Given the description of an element on the screen output the (x, y) to click on. 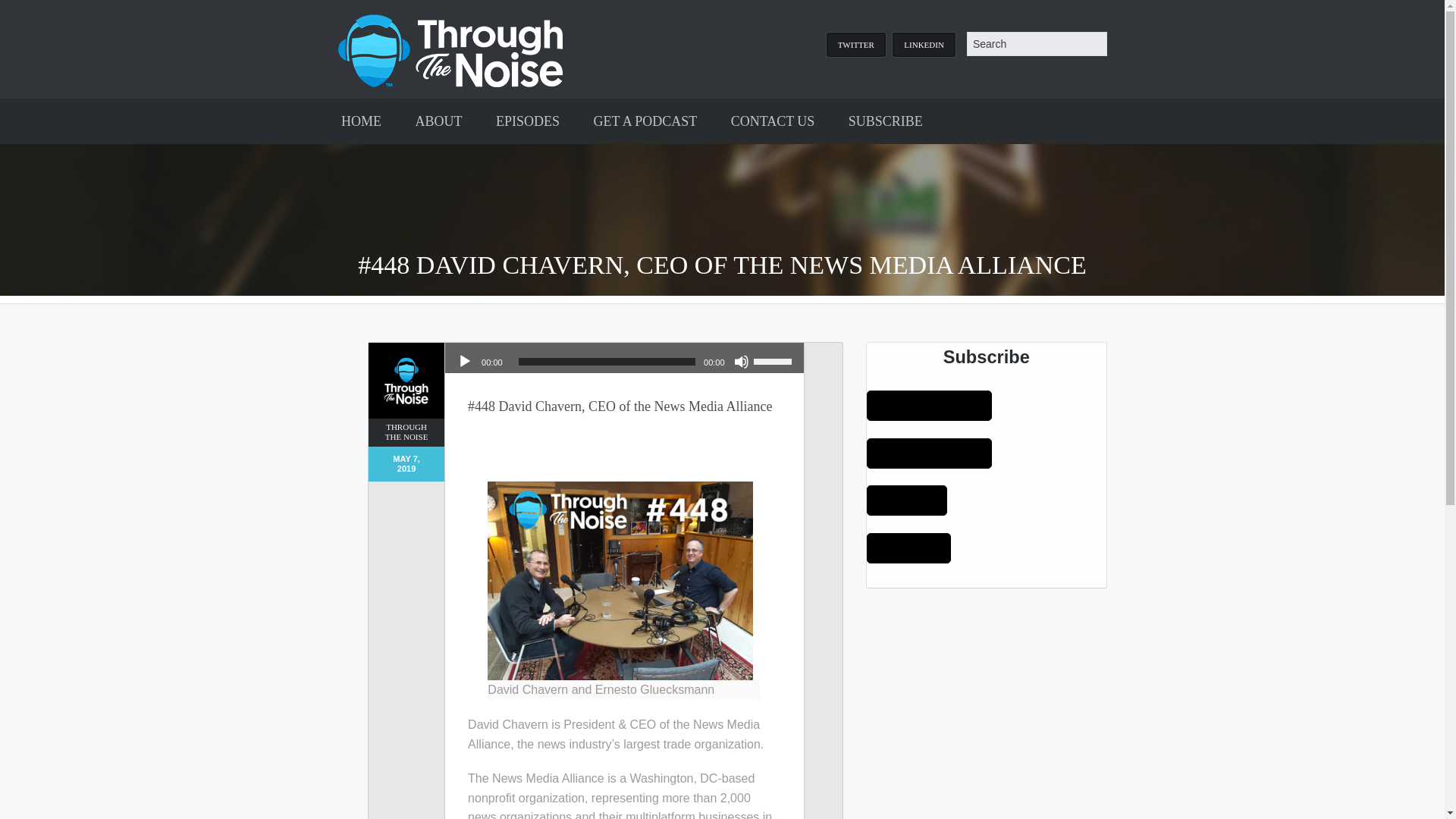
Listen on Spotify (906, 500)
Listen on Apple Podcasts (928, 405)
CONTACT US (772, 121)
LINKEDIN (923, 44)
Search (1036, 43)
EPISODES (527, 121)
SUBSCRIBE (884, 121)
HOME (361, 121)
ABOUT (438, 121)
TWITTER (856, 44)
